Given the description of an element on the screen output the (x, y) to click on. 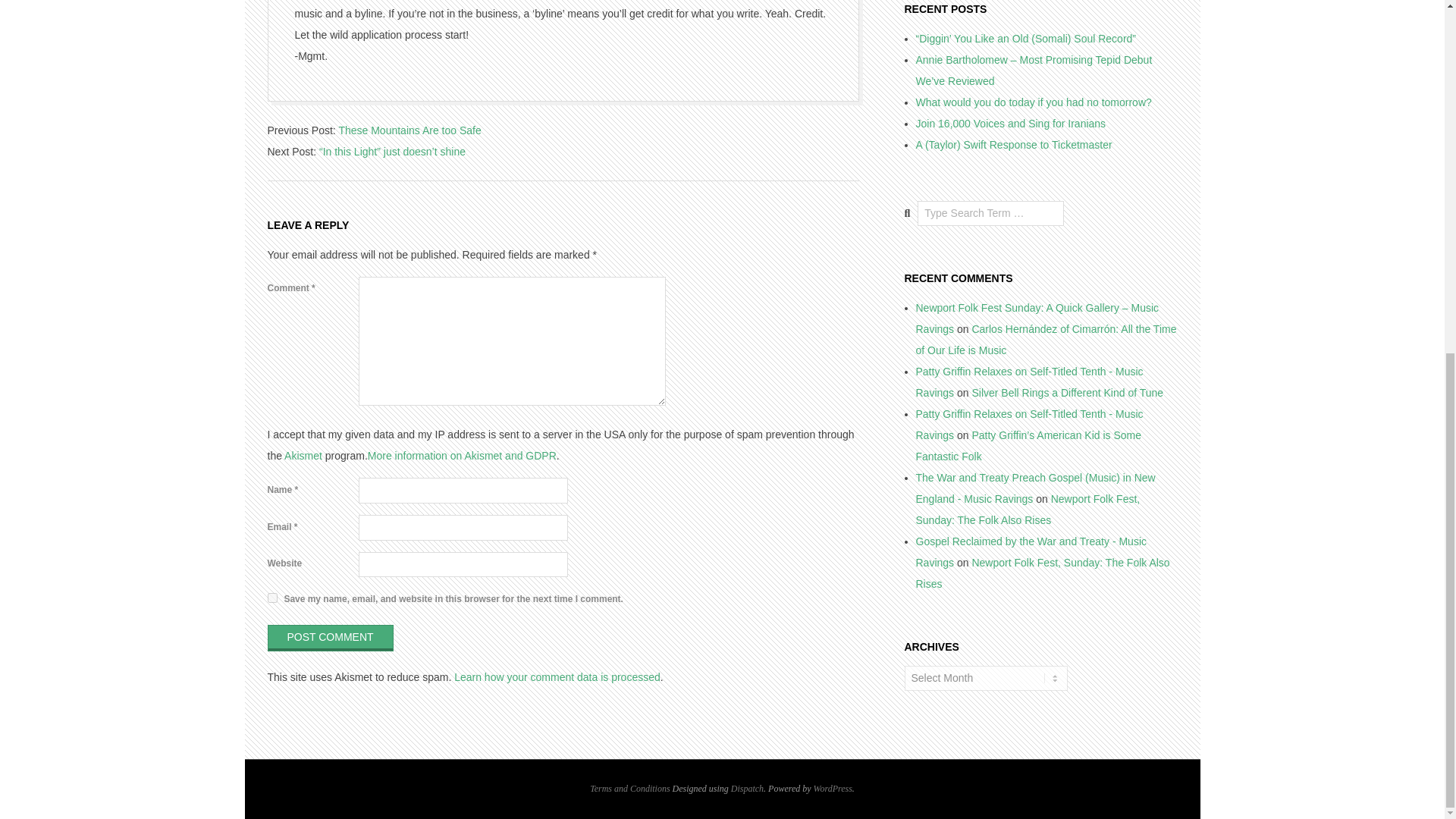
yes (271, 597)
Patty Griffin Relaxes on Self-Titled Tenth - Music Ravings (1028, 381)
Dispatch WordPress Theme (746, 787)
Akismet (302, 455)
These Mountains Are too Safe (408, 130)
Learn how your comment data is processed (557, 676)
State-of-the-art semantic personal publishing platform (832, 787)
Newport Folk Fest, Sunday: The Folk Also Rises (1027, 509)
Post Comment (329, 637)
More information on Akismet and GDPR (462, 455)
Patty Griffin Relaxes on Self-Titled Tenth - Music Ravings (1028, 424)
Post Comment (329, 637)
Join 16,000 Voices and Sing for Iranians (1010, 123)
Silver Bell Rings a Different Kind of Tune (1067, 392)
What would you do today if you had no tomorrow? (1033, 102)
